Given the description of an element on the screen output the (x, y) to click on. 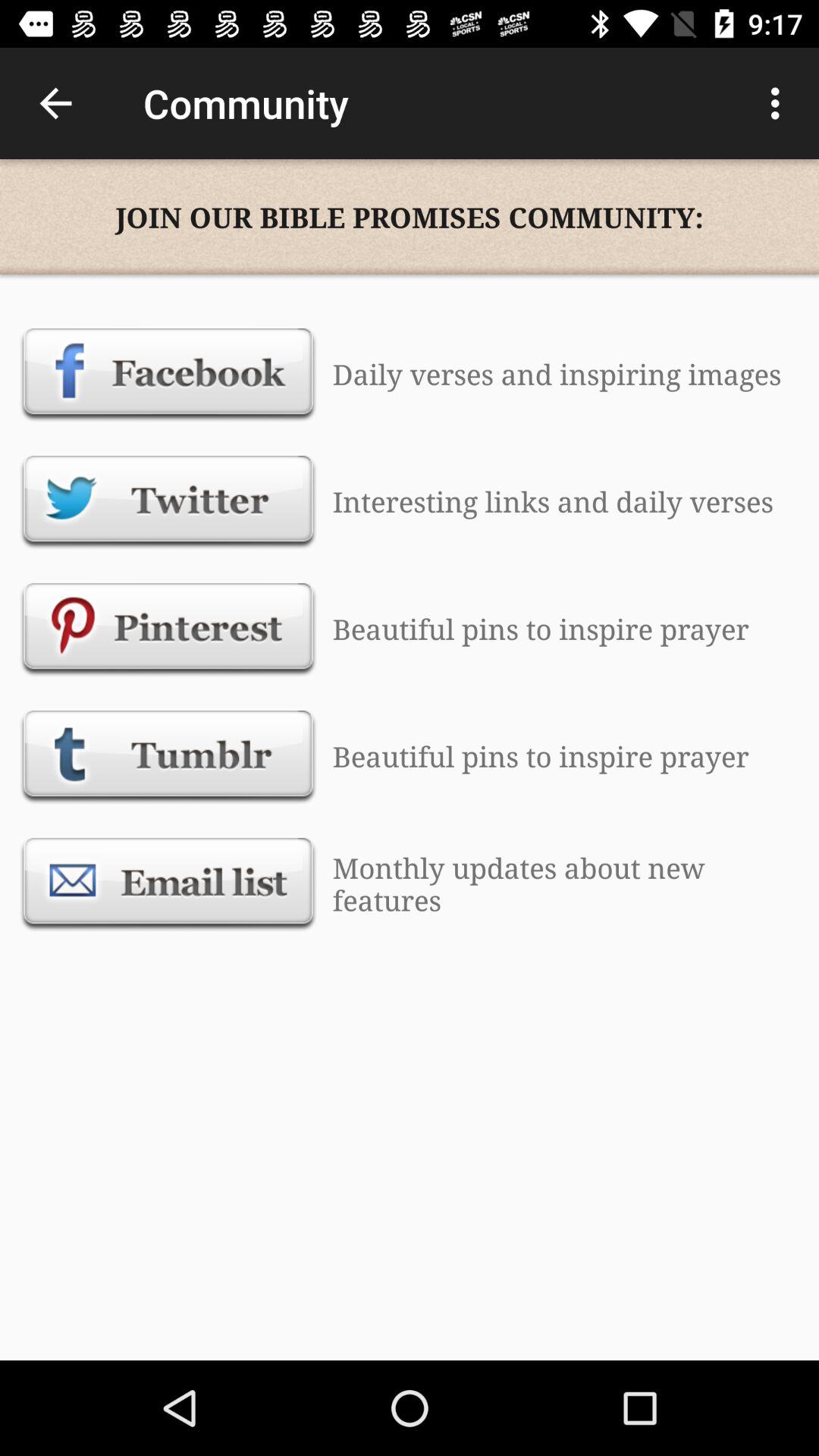
select item below join our bible item (167, 374)
